Given the description of an element on the screen output the (x, y) to click on. 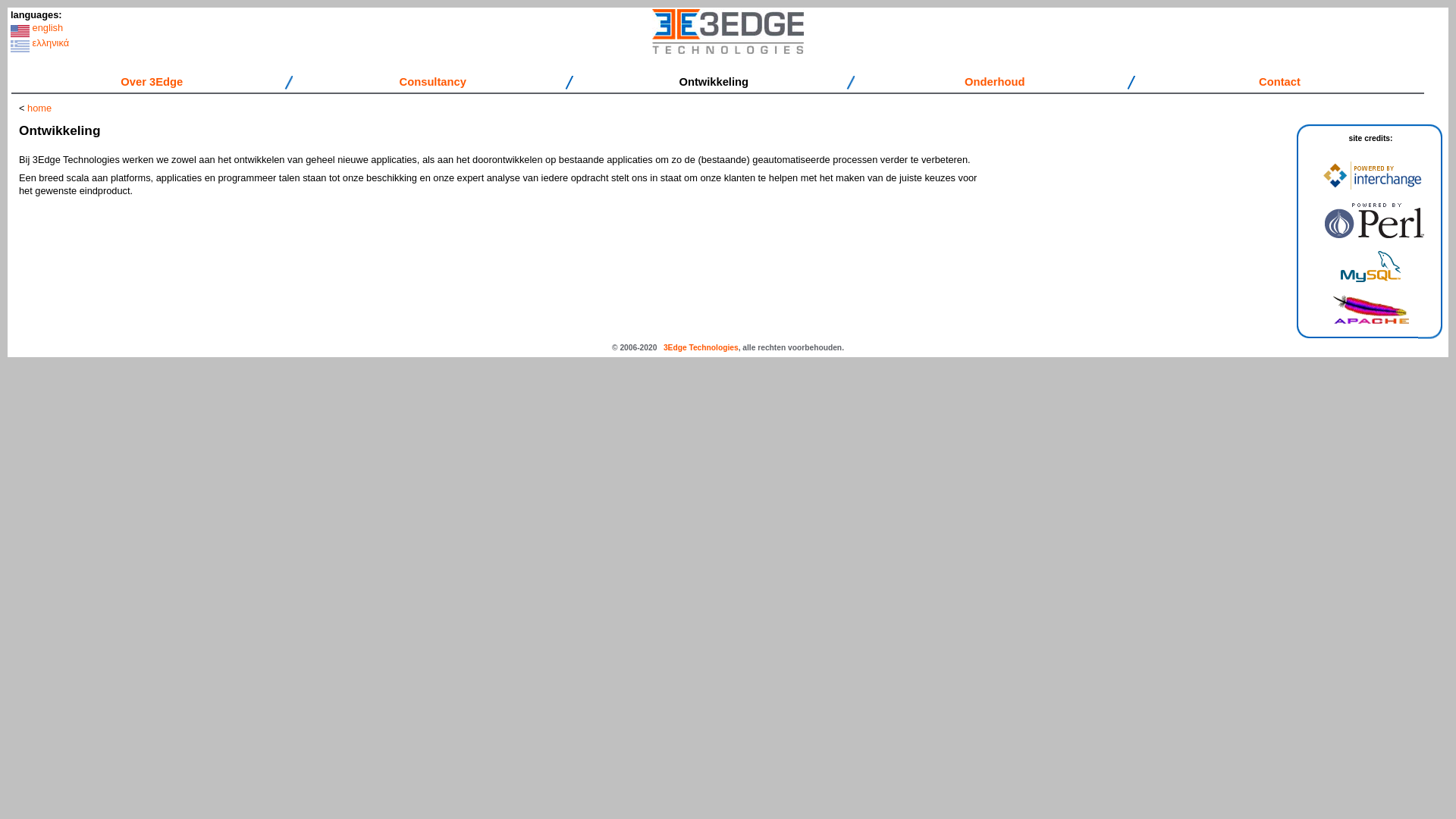
home Element type: text (39, 107)
Over 3Edge Element type: text (151, 81)
Contact Element type: text (1279, 81)
Onderhoud Element type: text (994, 81)
3Edge Technologies Element type: text (700, 347)
english Element type: text (47, 27)
Consultancy Element type: text (432, 81)
3Edge Technologies logo Element type: hover (727, 31)
